Given the description of an element on the screen output the (x, y) to click on. 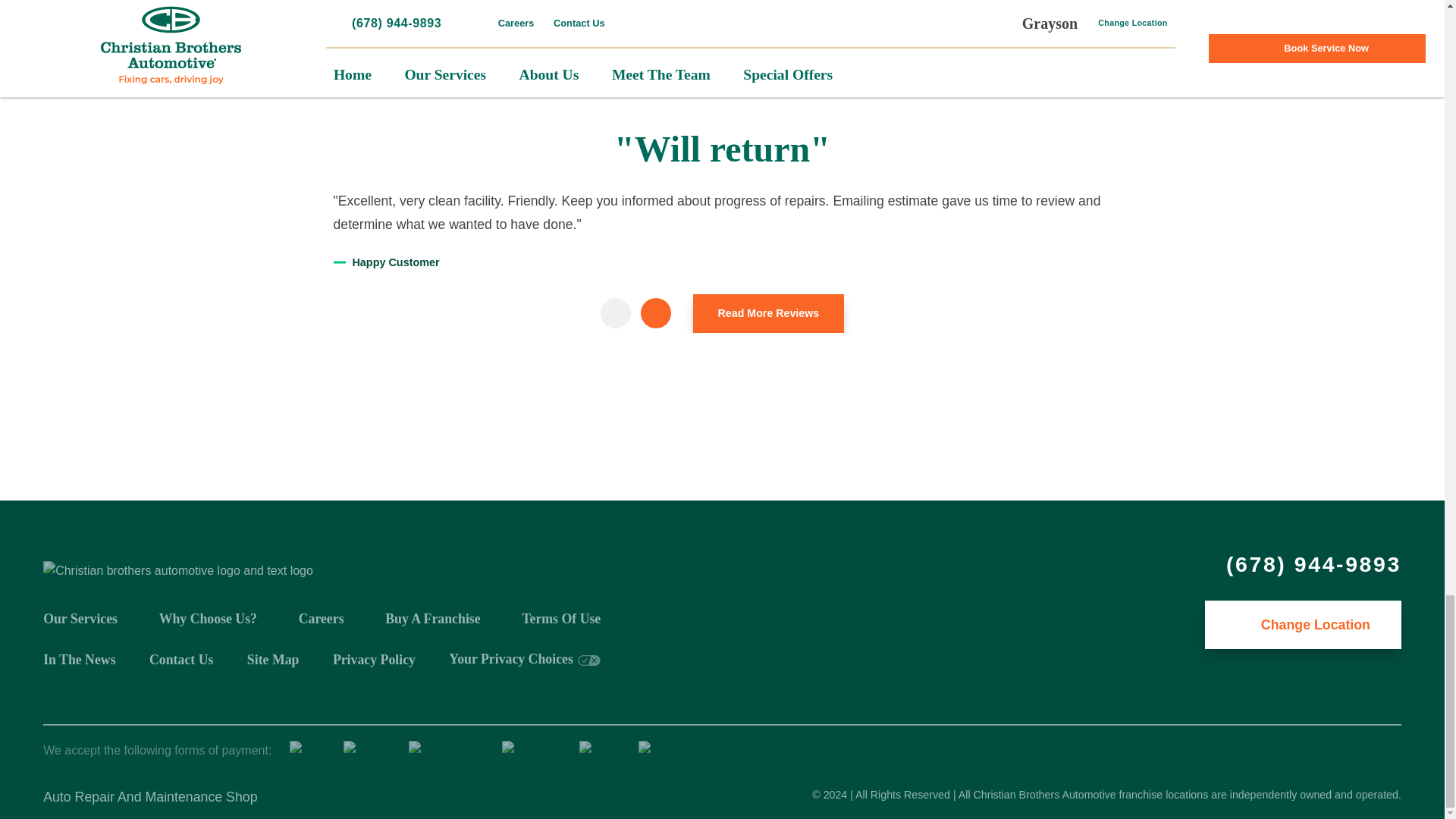
Christian Brothers Automotive (178, 570)
Visa (306, 750)
Cash (599, 750)
Check (661, 750)
View next item (655, 313)
Discover (531, 750)
View previous item (614, 313)
AMEX (366, 750)
MasterCard (446, 750)
